Given the description of an element on the screen output the (x, y) to click on. 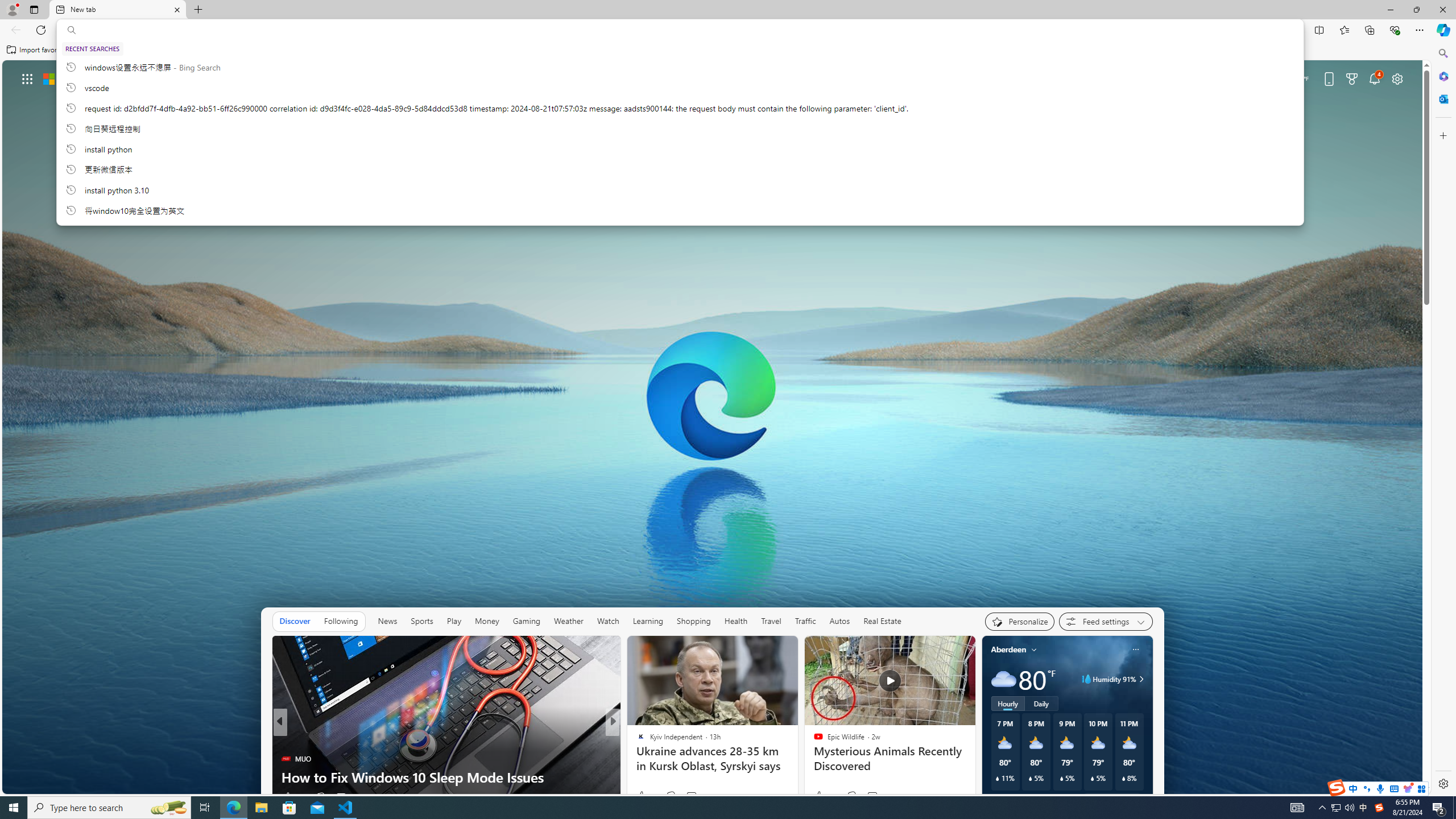
10 Like (642, 796)
Netflix (857, 206)
Humidity 91% (1139, 678)
install python, recent searches from history (679, 148)
Class: weather-current-precipitation-glyph (1123, 778)
